Given the description of an element on the screen output the (x, y) to click on. 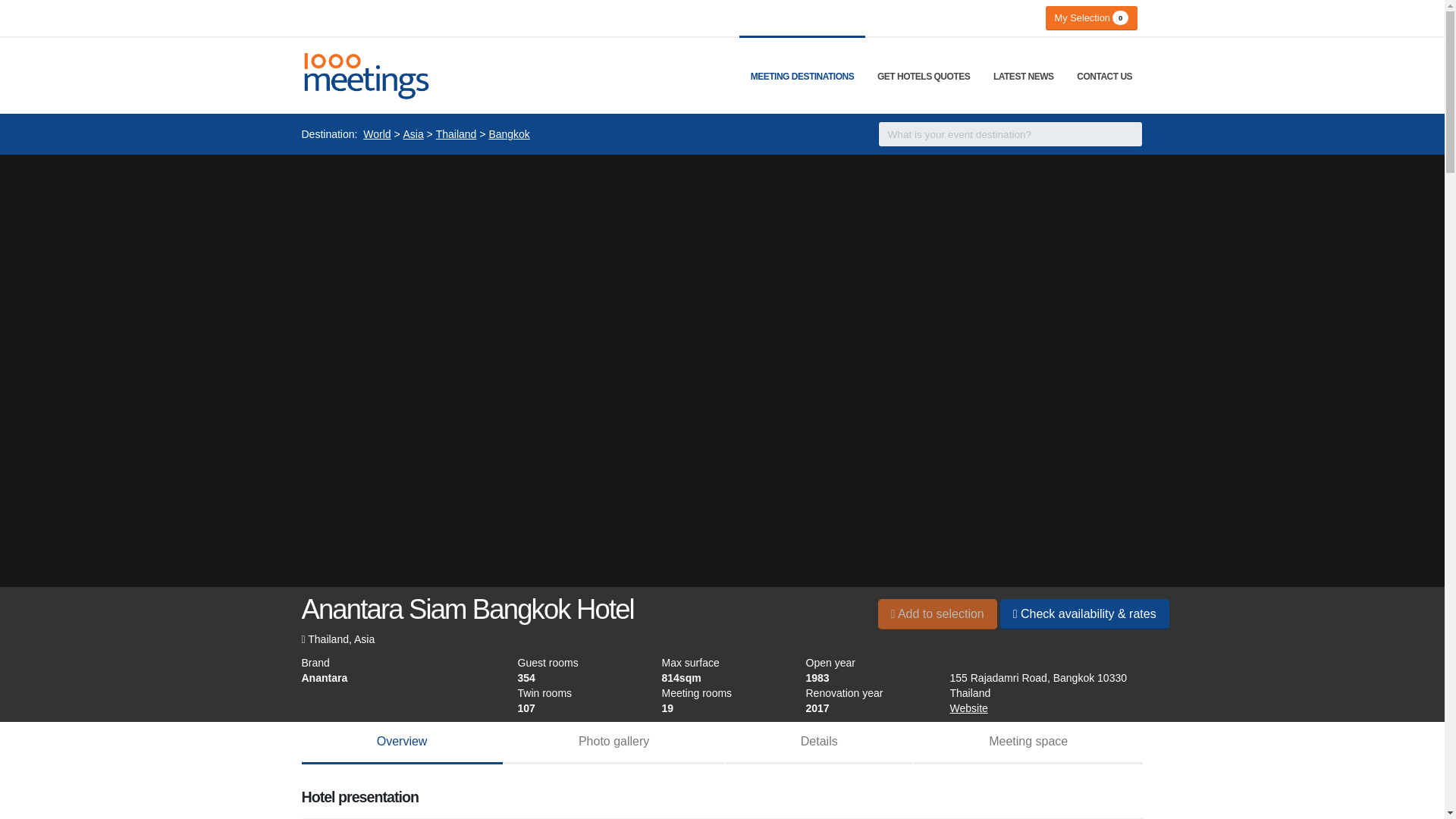
My Selection 0 (1091, 17)
MEETING DESTINATIONS (801, 76)
Asia (413, 134)
Add to selection (937, 613)
LATEST NEWS (1023, 76)
World (376, 134)
GET HOTELS QUOTES (923, 76)
Overview (401, 742)
Thailand (456, 134)
Meeting space (1028, 742)
Details (818, 742)
Website (968, 707)
CONTACT US (1103, 76)
Bangkok (508, 134)
Photo gallery (614, 742)
